Given the description of an element on the screen output the (x, y) to click on. 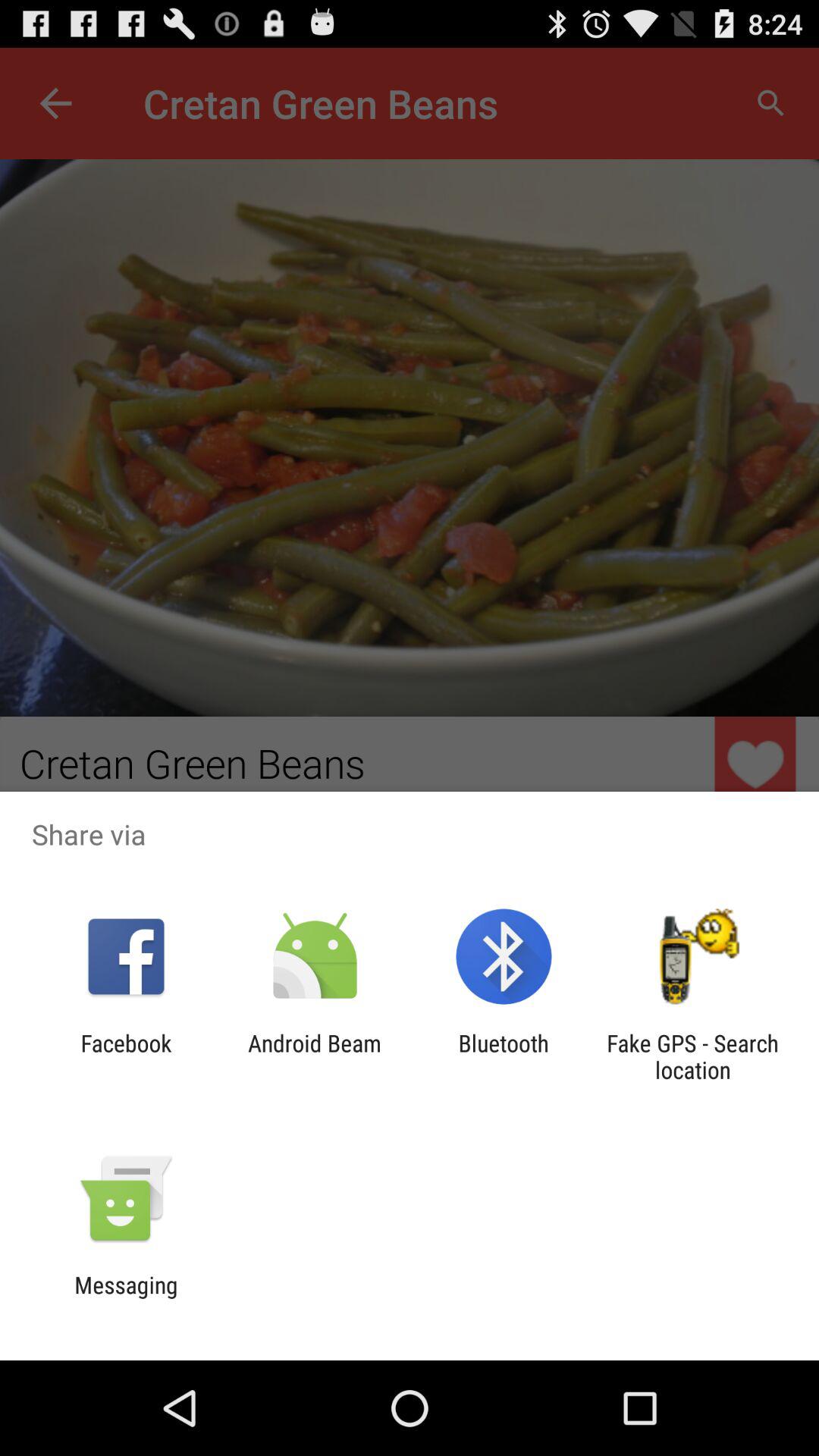
tap the bluetooth (503, 1056)
